Given the description of an element on the screen output the (x, y) to click on. 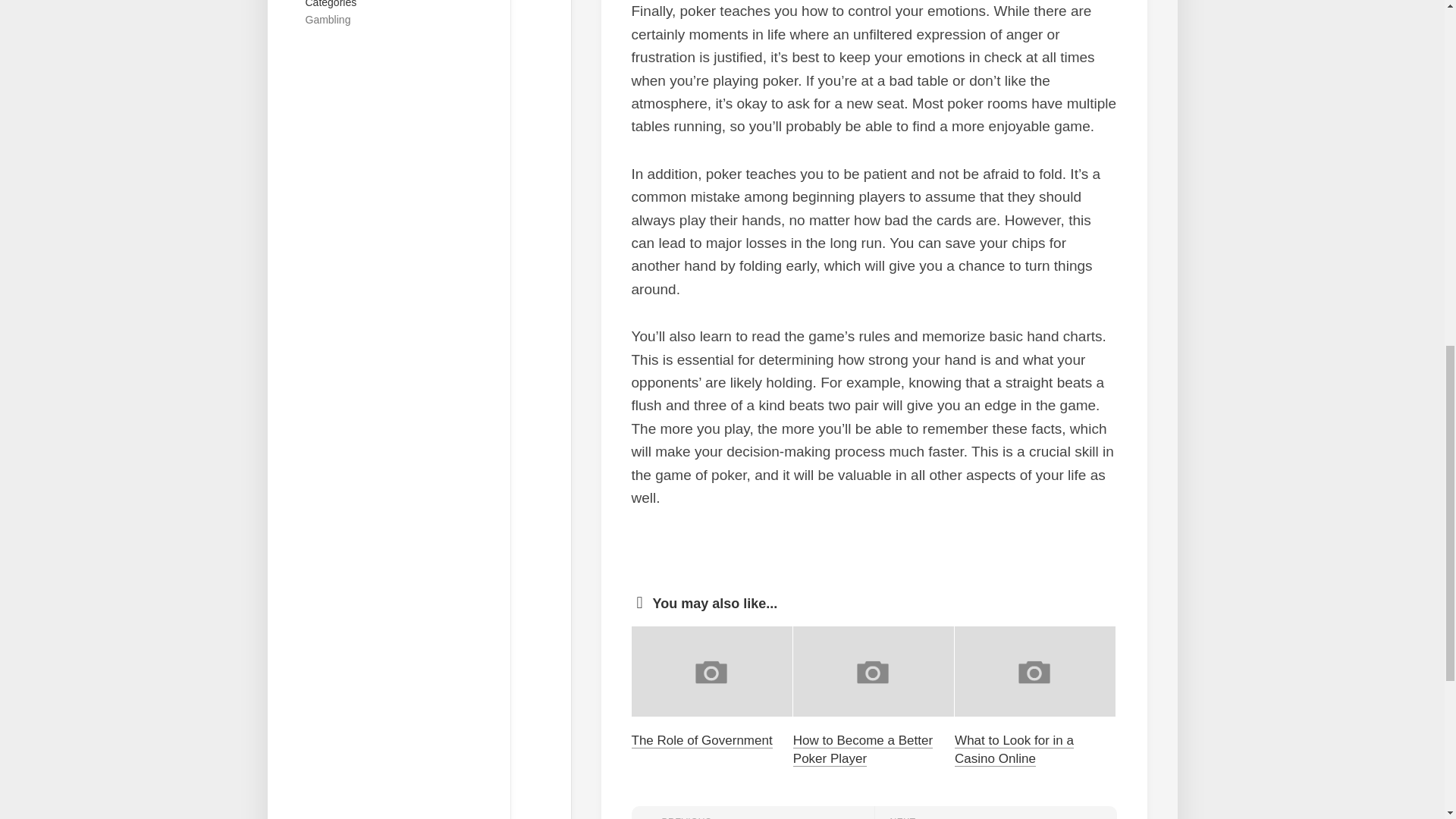
How to Become a Better Poker Player (751, 812)
What to Look for in a Casino Online (863, 749)
Gambling (1014, 749)
The Role of Government (327, 19)
